Given the description of an element on the screen output the (x, y) to click on. 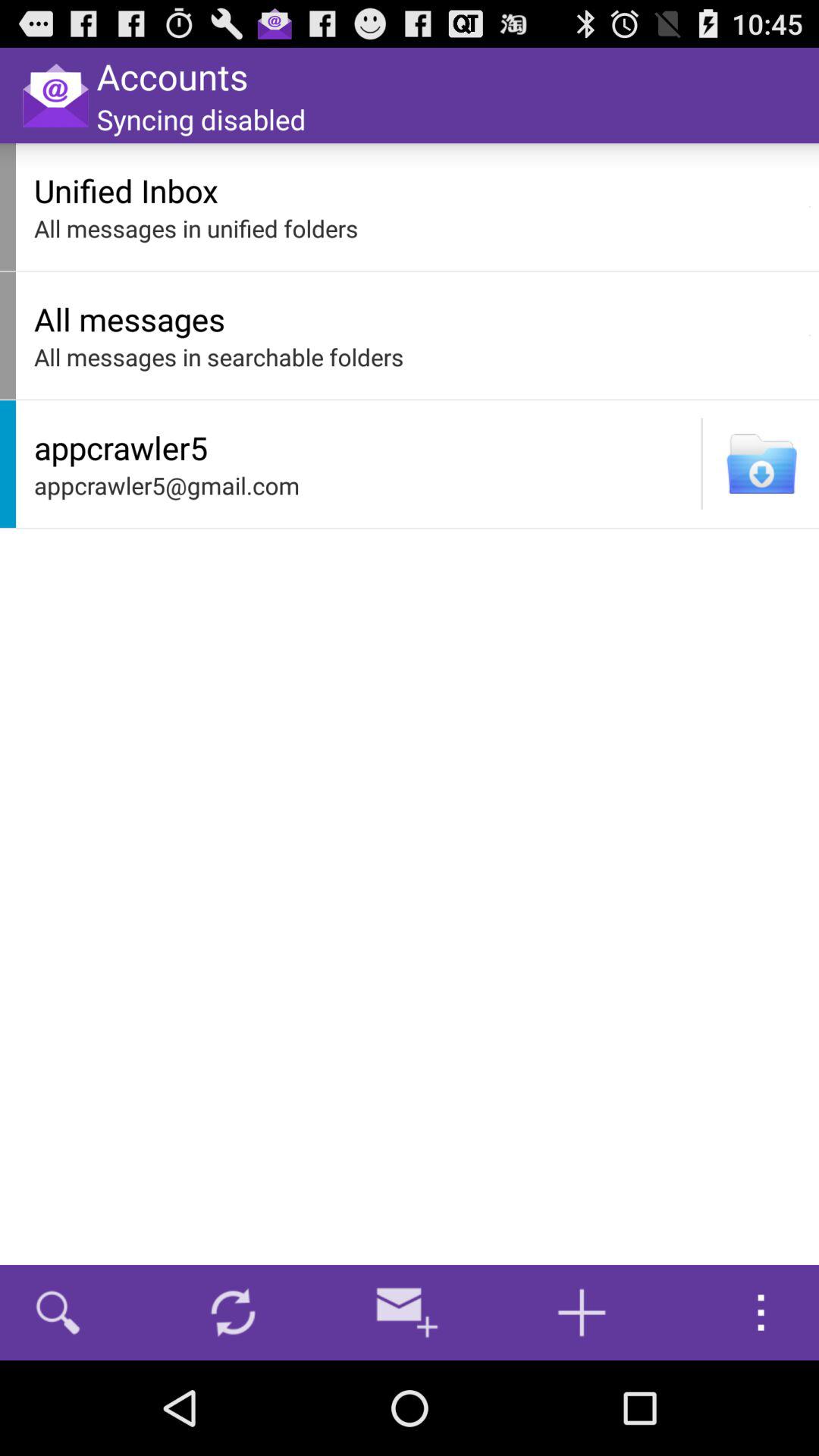
select the app next to the appcrawler5 (701, 463)
